Given the description of an element on the screen output the (x, y) to click on. 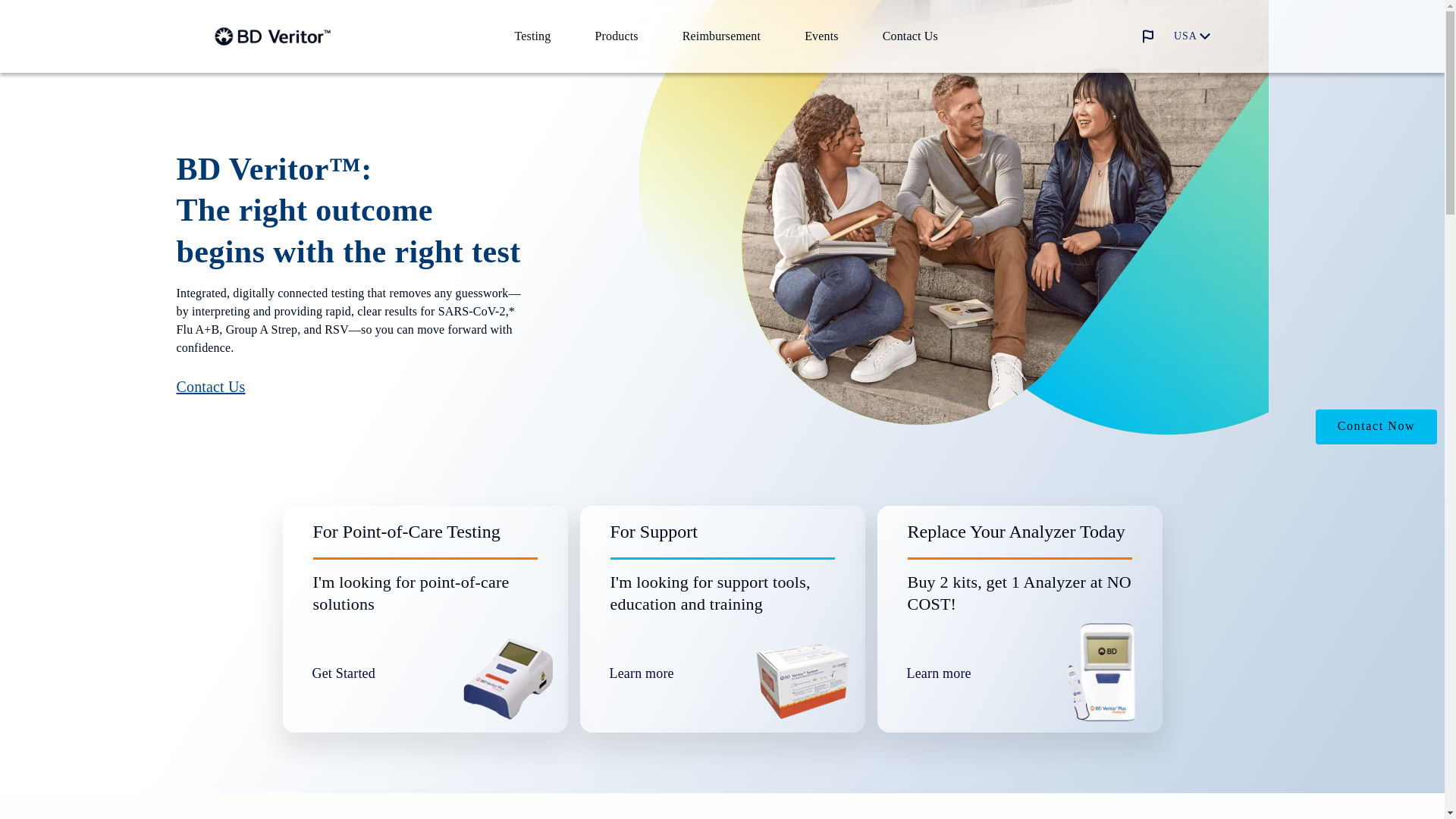
Get Started (373, 673)
Contact Us (210, 386)
Reimbursement (721, 35)
Learn more (967, 673)
Learn more (670, 673)
Contact Now (1376, 426)
Products (615, 35)
Testing (531, 35)
Events (821, 35)
Contact Us (909, 35)
